Given the description of an element on the screen output the (x, y) to click on. 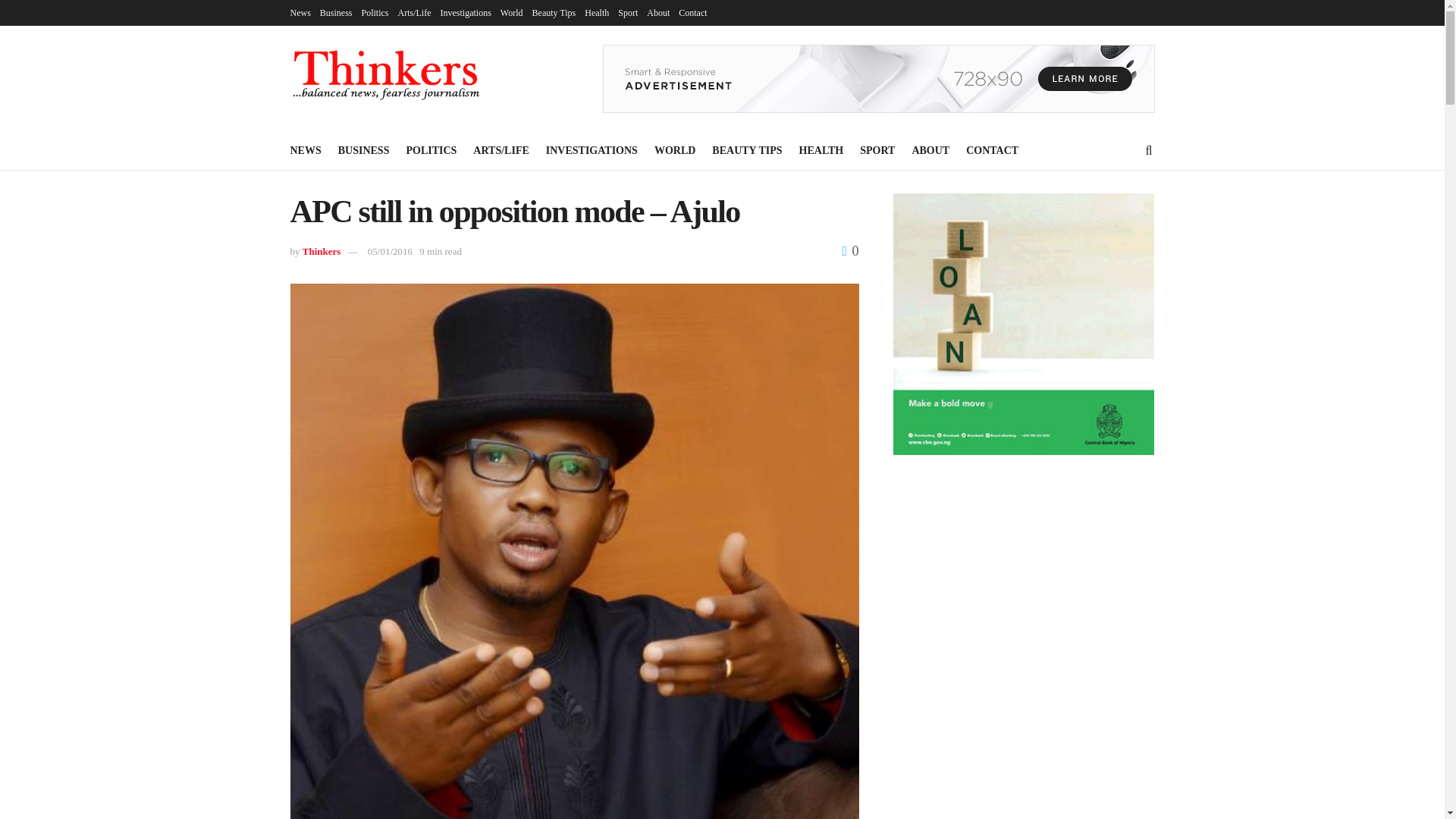
POLITICS (431, 150)
Politics (374, 12)
Beauty Tips (554, 12)
Health (596, 12)
Business (336, 12)
SPORT (877, 150)
Contact (692, 12)
WORLD (674, 150)
Investigations (466, 12)
BEAUTY TIPS (746, 150)
BUSINESS (363, 150)
ABOUT (930, 150)
NEWS (304, 150)
INVESTIGATIONS (591, 150)
HEALTH (821, 150)
